Given the description of an element on the screen output the (x, y) to click on. 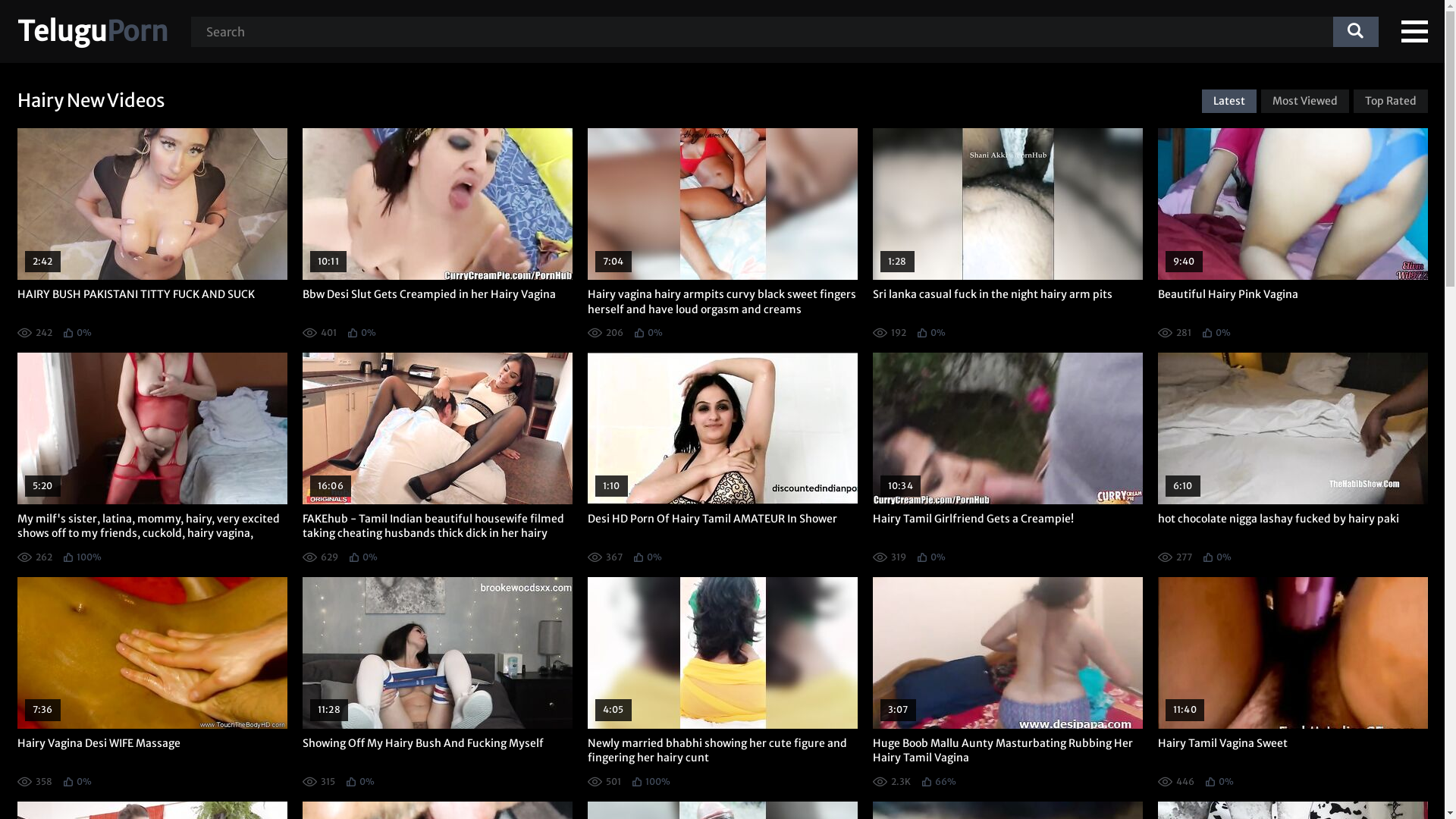
Most Viewed Element type: text (1304, 100)
10:34
Hairy Tamil Girlfriend Gets a Creampie!
319
0% Element type: text (1007, 456)
11:28
Showing Off My Hairy Bush And Fucking Myself
315
0% Element type: text (436, 681)
1:10
Desi HD Porn Of Hairy Tamil AMATEUR In Shower
367
0% Element type: text (721, 456)
TeluguPorn Element type: text (91, 31)
Top Rated Element type: text (1389, 100)
Latest Element type: text (1228, 100)
2:42
HAIRY BUSH PAKISTANI TITTY FUCK AND SUCK
242
0% Element type: text (151, 232)
11:40
Hairy Tamil Vagina Sweet
446
0% Element type: text (1292, 681)
7:36
Hairy Vagina Desi WIFE Massage
358
0% Element type: text (151, 681)
9:40
Beautiful Hairy Pink Vagina
281
0% Element type: text (1292, 232)
6:10
hot chocolate nigga lashay fucked by hairy paki
277
0% Element type: text (1292, 456)
